Given the description of an element on the screen output the (x, y) to click on. 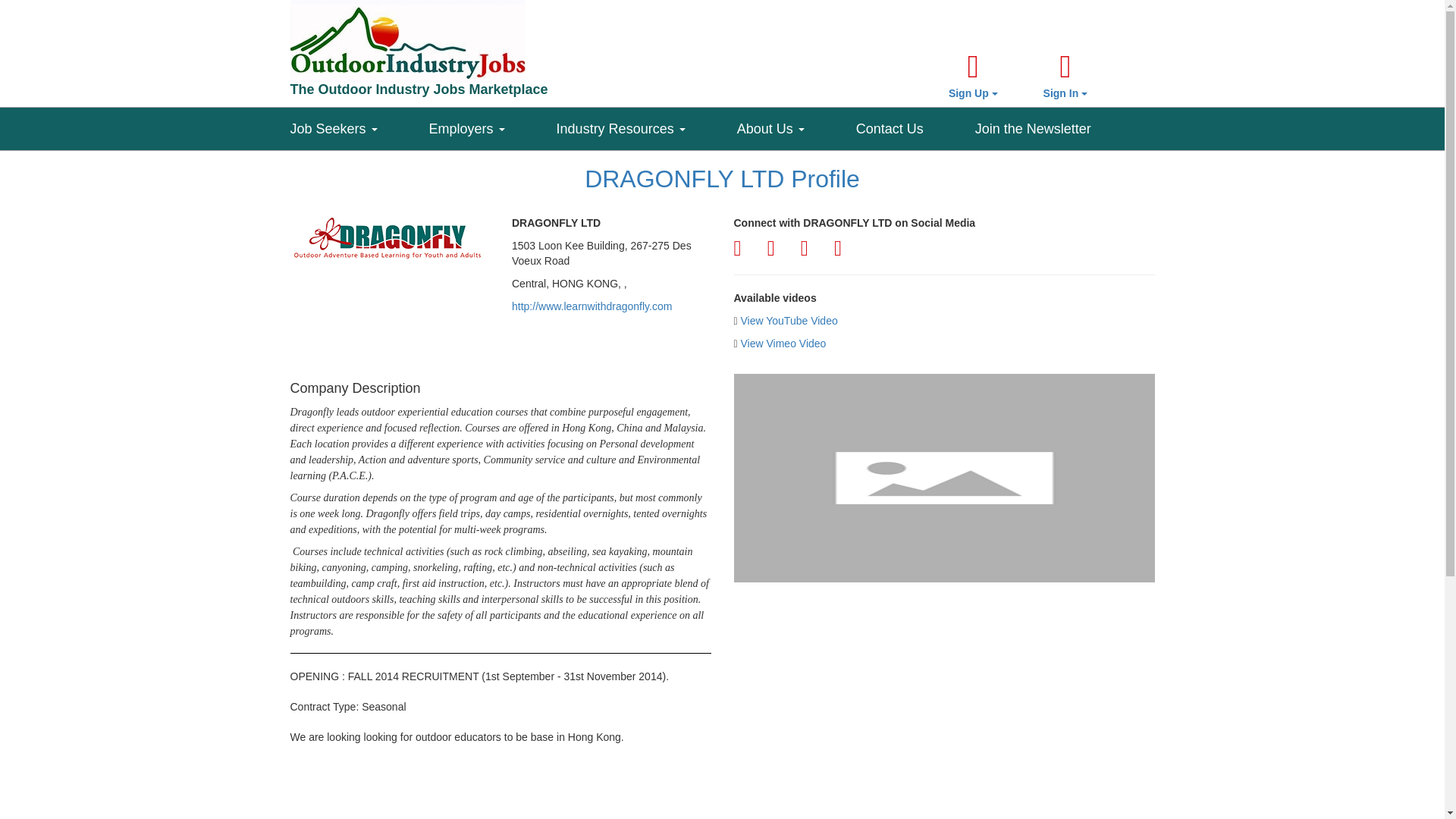
Sign Up (973, 76)
Employers (492, 124)
Job Seekers (358, 124)
Industry Resources (646, 124)
Sign In (1065, 76)
